Given the description of an element on the screen output the (x, y) to click on. 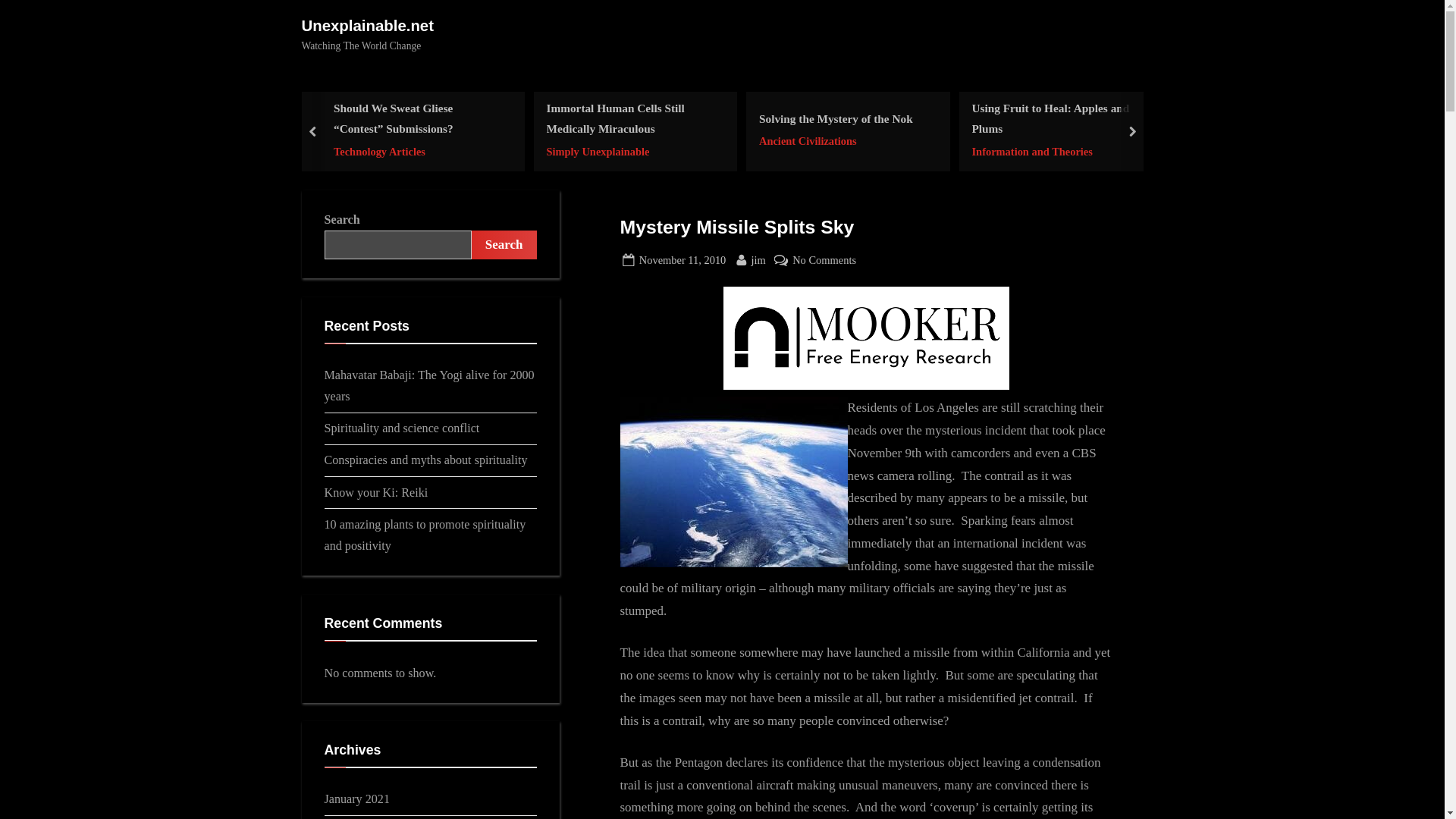
Unexplainable.net (367, 25)
Using Fruit to Heal: Apples and Plums (1055, 118)
Technology Articles (417, 150)
Information and Theories (824, 260)
Solving the Mystery of the Nok (1055, 150)
Simply Unexplainable (835, 118)
Immortal Human Cells Still Medically Miraculous (630, 150)
Ancient Civilizations (630, 118)
